Given the description of an element on the screen output the (x, y) to click on. 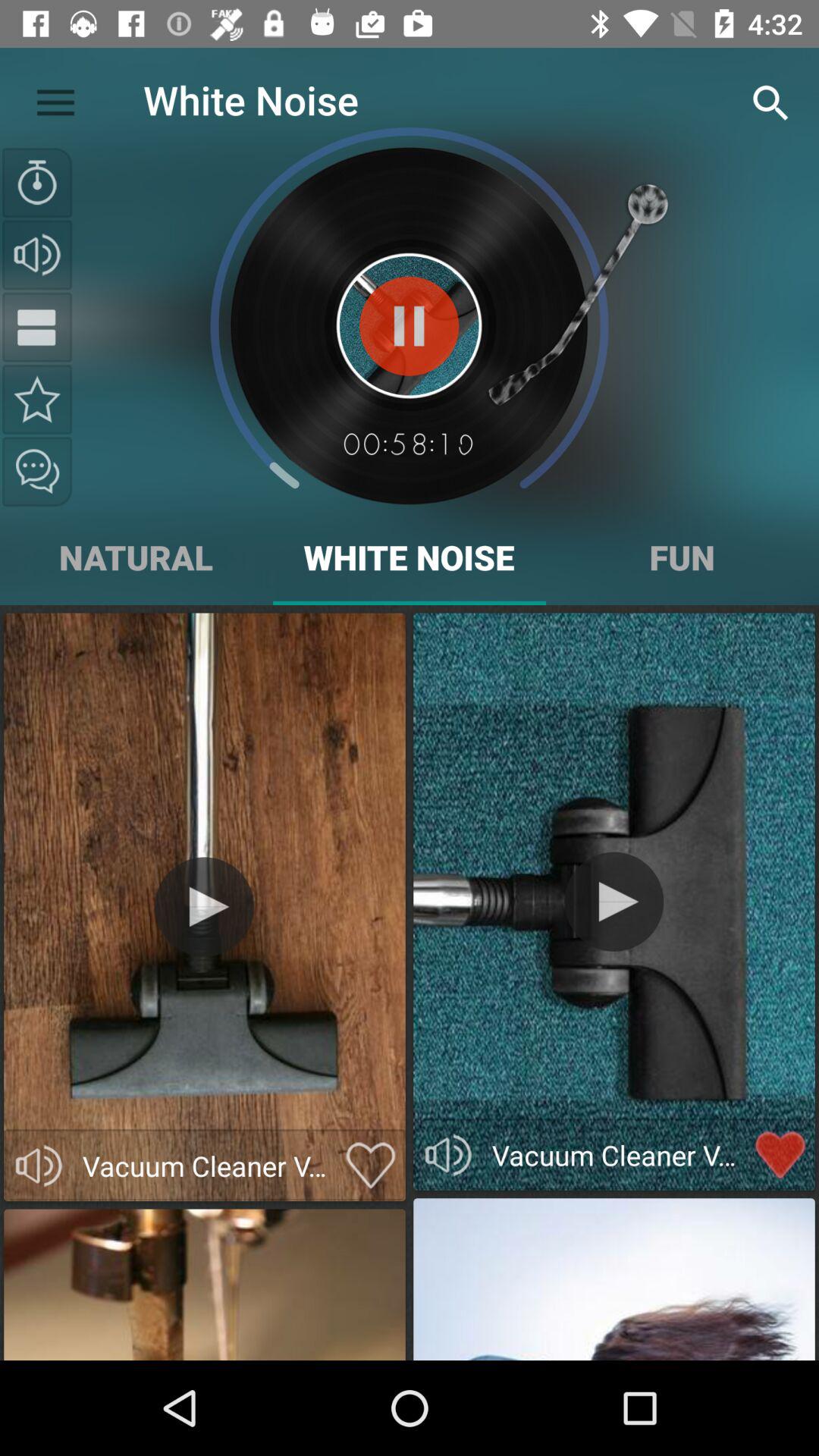
timer (37, 182)
